Given the description of an element on the screen output the (x, y) to click on. 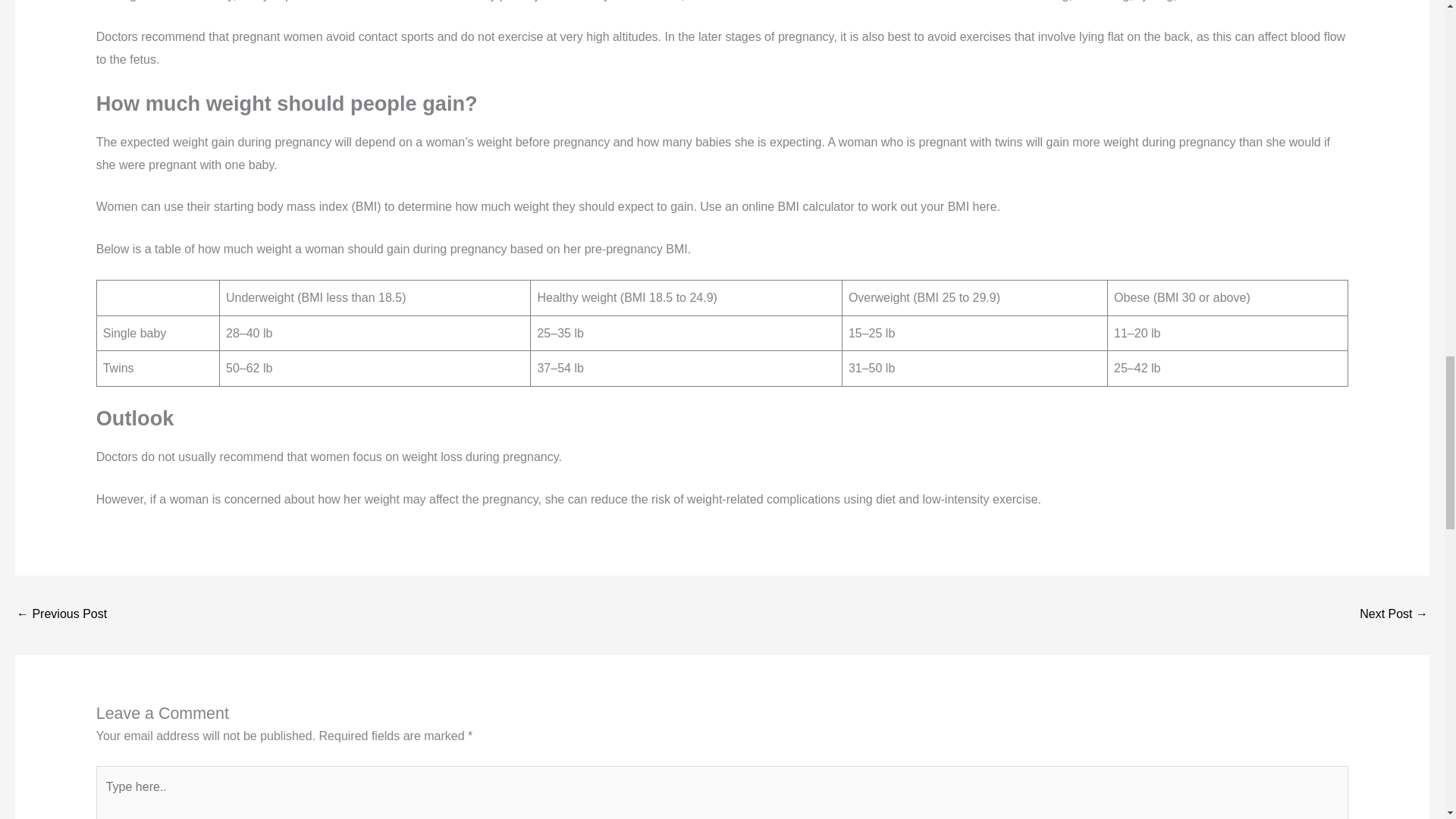
Eating less not the best way to lose weight, study shows (61, 615)
Constipation and pregnancy: What to know (1393, 615)
